Given the description of an element on the screen output the (x, y) to click on. 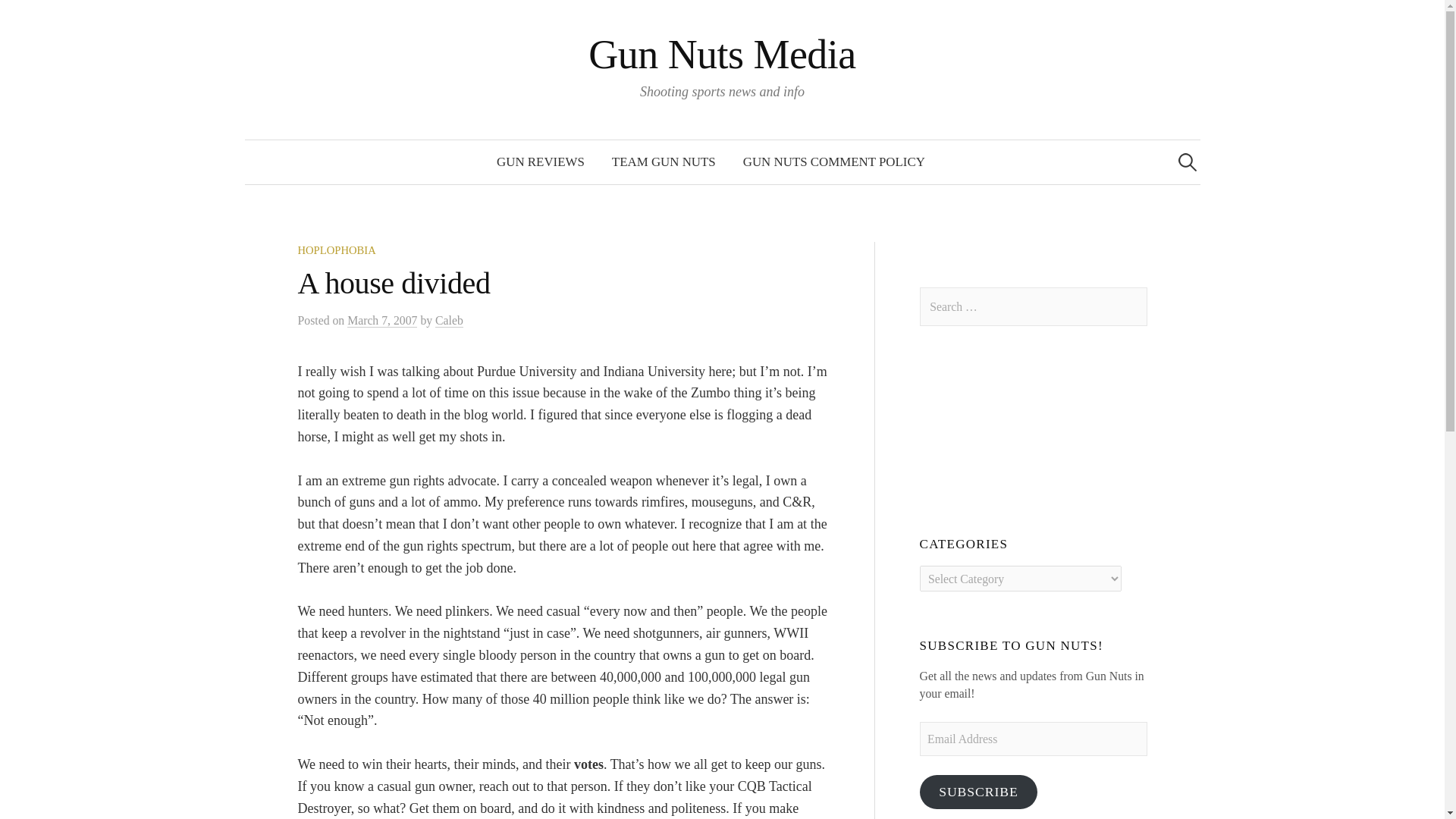
Search (18, 18)
GUN NUTS COMMENT POLICY (834, 162)
SUBSCRIBE (979, 791)
TEAM GUN NUTS (663, 162)
View all posts by Caleb (449, 320)
Search (40, 18)
Caleb (449, 320)
Gun Nuts Media (722, 53)
HOPLOPHOBIA (336, 250)
March 7, 2007 (381, 320)
